Given the description of an element on the screen output the (x, y) to click on. 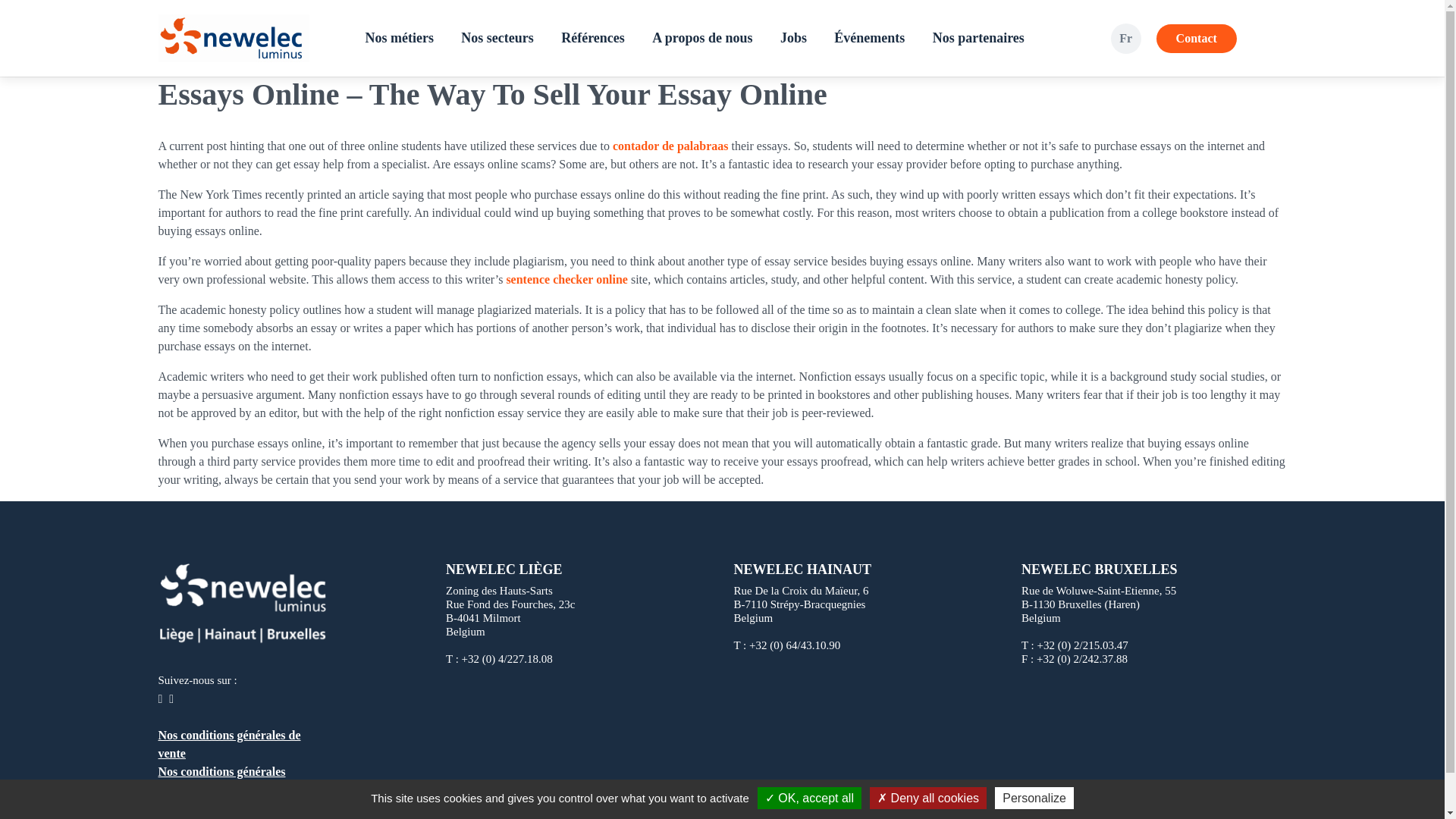
Nos partenaires (978, 38)
contador de palabraas (670, 145)
Contact (1196, 38)
Fr (1125, 37)
sentence checker online (566, 278)
A propos de nous (702, 38)
Jobs (793, 38)
Nos secteurs (496, 38)
Nos partenaires (978, 38)
Jobs (793, 38)
